Given the description of an element on the screen output the (x, y) to click on. 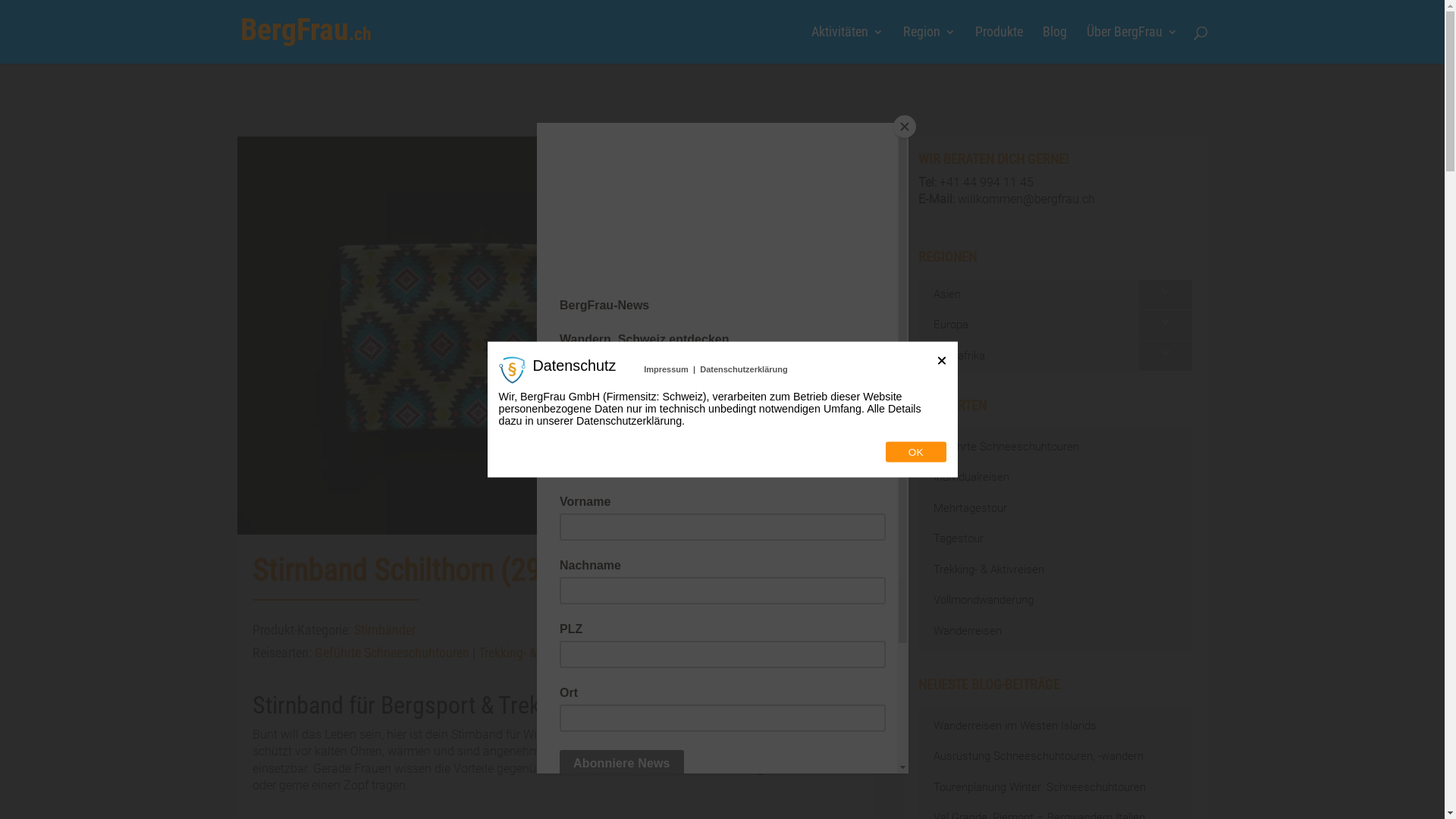
Nordafrika Element type: text (1055, 356)
Europa Element type: text (1055, 325)
Wanderreisen Element type: text (1055, 631)
Mehrtagestour Element type: text (1055, 508)
Wanderreisen im Westen Islands Element type: text (1055, 726)
Stirnband Schilthorn Element type: hover (555, 335)
Tourenplanung Winter. Schneeschuhtouren Element type: text (1055, 787)
Asien Element type: text (1055, 294)
+41 44 994 11 45 Element type: text (986, 182)
OK Element type: text (915, 451)
BergFrau.ch Element type: text (304, 30)
Tagestour Element type: text (1055, 539)
Vollmondwanderung Element type: text (1055, 600)
Produkte Element type: text (998, 44)
Impressum Element type: text (665, 368)
Trekking- & Aktivreisen Element type: text (537, 652)
Trekking- & Aktivreisen Element type: text (1055, 570)
Individualreisen Element type: text (1055, 477)
Blog Element type: text (1053, 44)
willkommen@bergfrau.ch Element type: text (1026, 198)
Region Element type: text (928, 44)
